Given the description of an element on the screen output the (x, y) to click on. 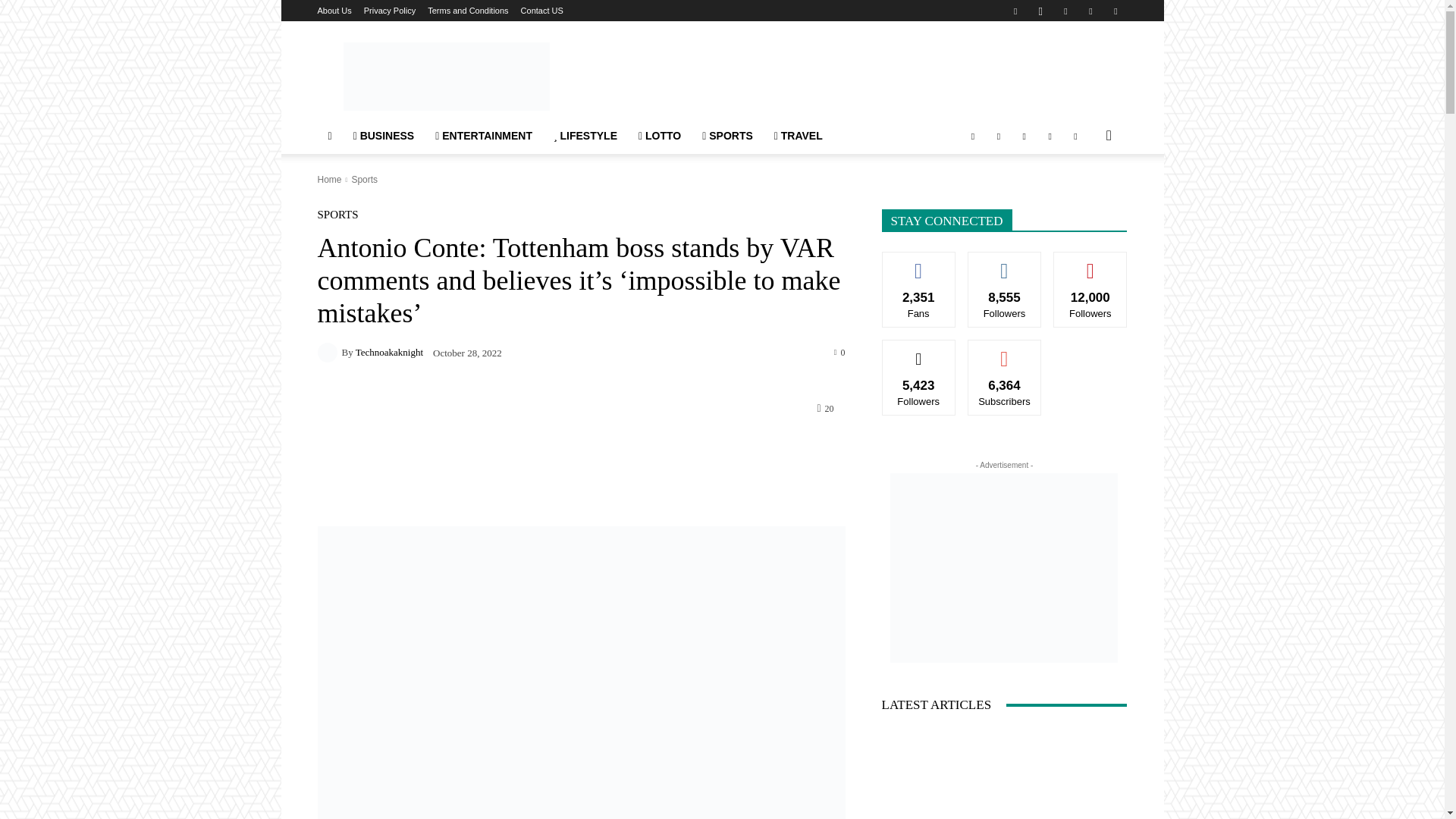
Contact US (542, 10)
Facebook (1015, 10)
Twitter (1090, 10)
Youtube (1114, 10)
Privacy Policy (389, 10)
Instagram (1040, 10)
SPORTS (726, 135)
TRAVEL (797, 135)
ENTERTAINMENT (484, 135)
Terms and Conditions (468, 10)
Pinterest (1065, 10)
BUSINESS (383, 135)
LIFESTYLE (585, 135)
LOTTO (659, 135)
About Us (333, 10)
